Given the description of an element on the screen output the (x, y) to click on. 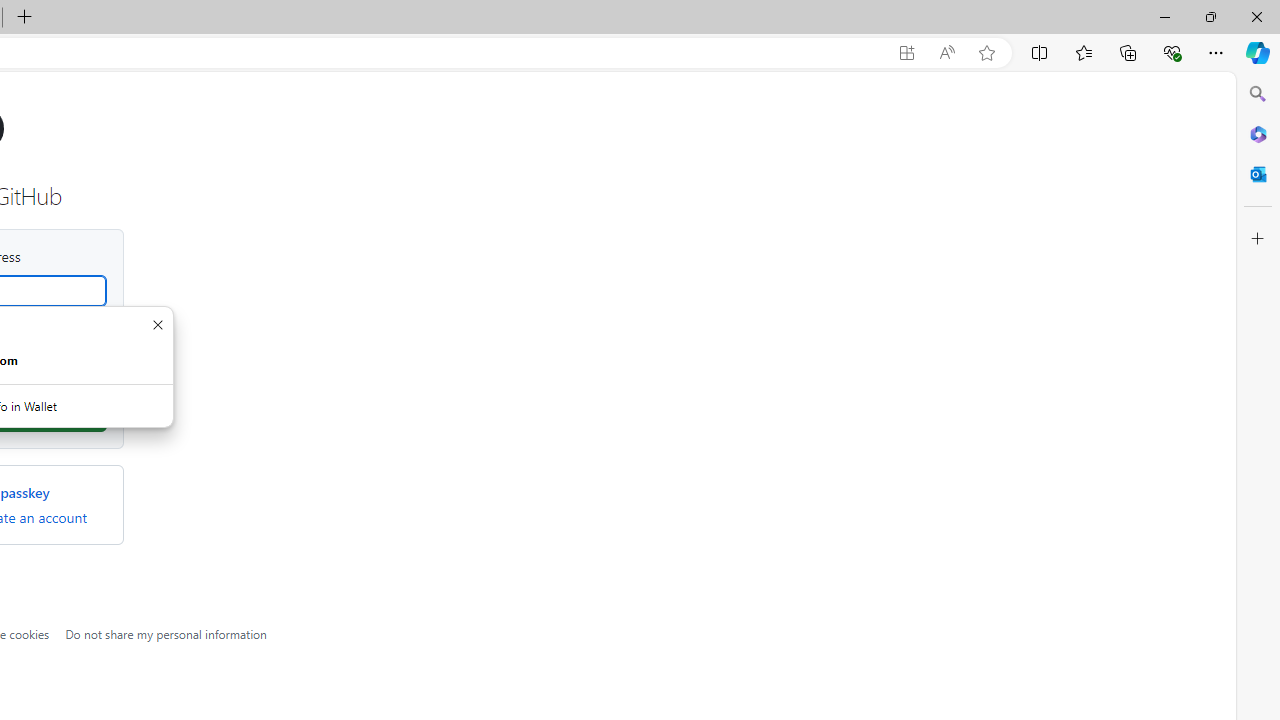
Don't show saved information (157, 324)
App available. Install GitHub (906, 53)
Do not share my personal information (166, 633)
Do not share my personal information (166, 633)
Forgot password? (59, 332)
